Given the description of an element on the screen output the (x, y) to click on. 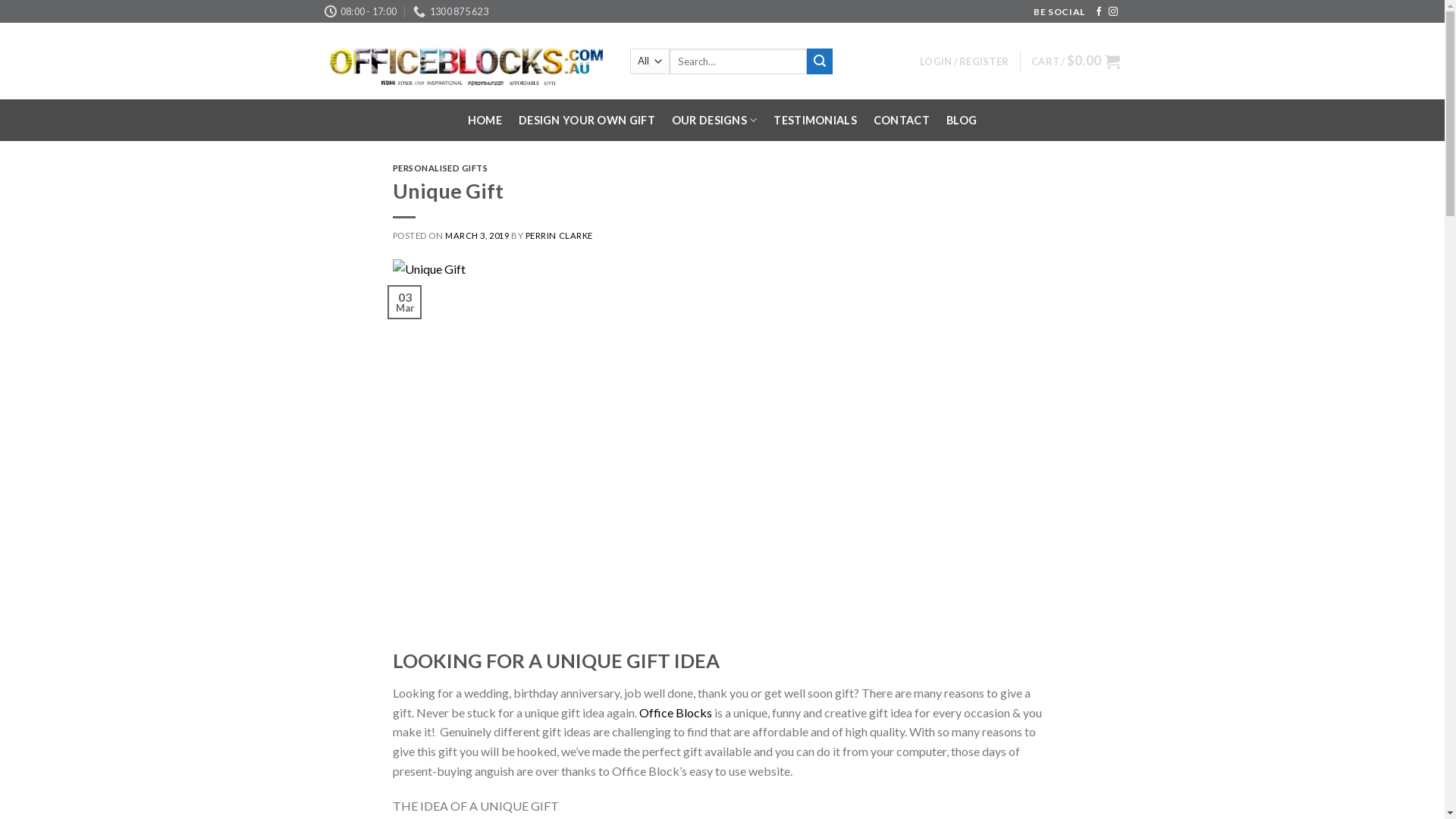
MARCH 3, 2019 Element type: text (476, 235)
TESTIMONIALS Element type: text (814, 120)
Follow on Facebook Element type: hover (1098, 11)
Office Blocks Element type: text (674, 712)
1300 875 623 Element type: text (450, 11)
HOME Element type: text (484, 120)
PERRIN CLARKE Element type: text (559, 235)
DESIGN YOUR OWN GIFT Element type: text (586, 120)
CONTACT Element type: text (901, 120)
PERSONALISED GIFTS Element type: text (440, 167)
CART / $0.00 Element type: text (1075, 61)
Follow on Instagram Element type: hover (1112, 11)
OUR DESIGNS Element type: text (714, 119)
Search Element type: text (819, 61)
LOGIN / REGISTER Element type: text (963, 61)
BLOG Element type: text (961, 120)
08:00 - 17:00 Element type: text (360, 11)
